Given the description of an element on the screen output the (x, y) to click on. 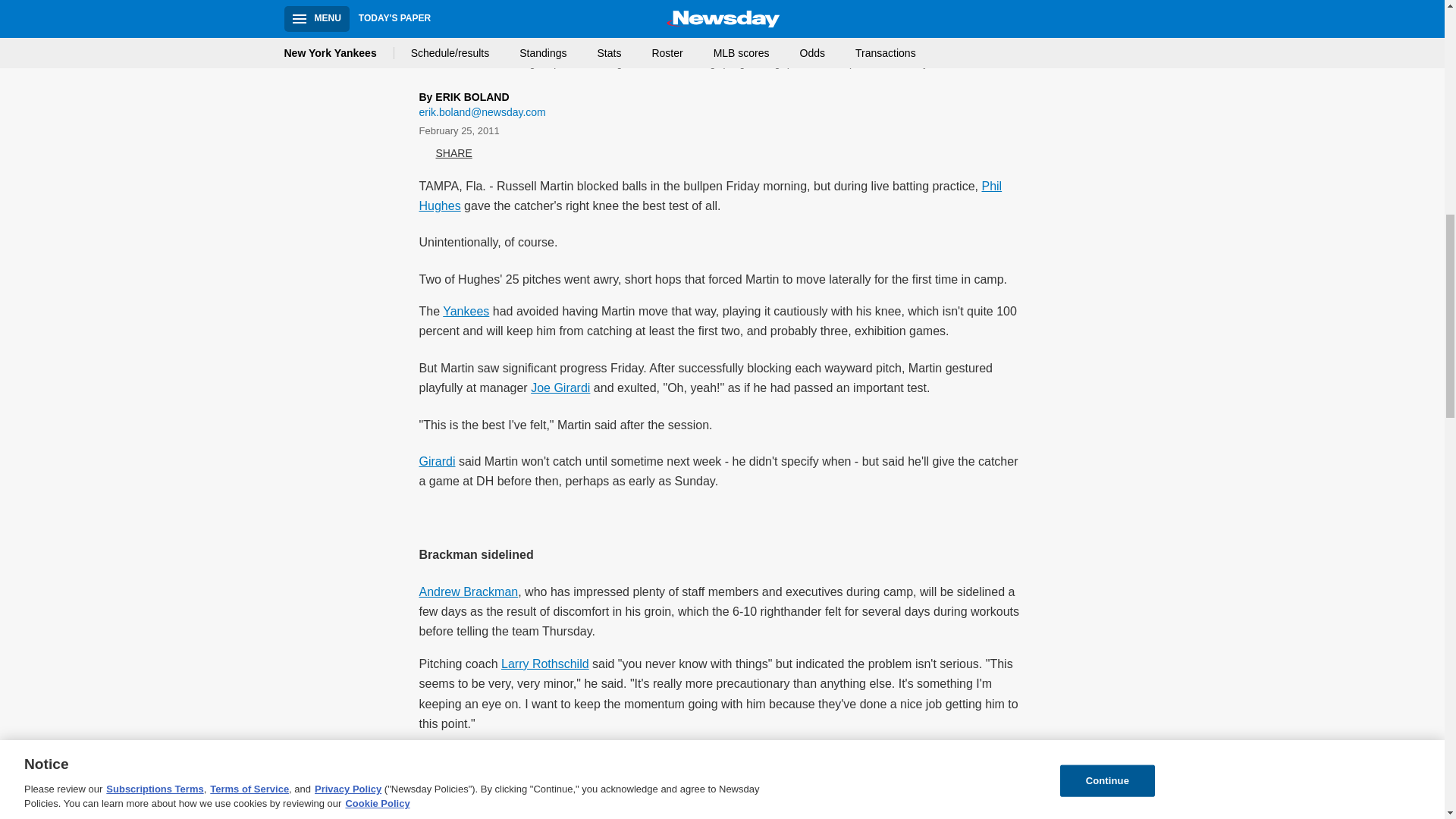
Joe Girardi (560, 387)
SHARE (445, 153)
Phil Hughes (710, 195)
Andrew Brackman (468, 591)
Girardi (436, 461)
Yankees (465, 310)
Larry Rothschild (544, 663)
